Given the description of an element on the screen output the (x, y) to click on. 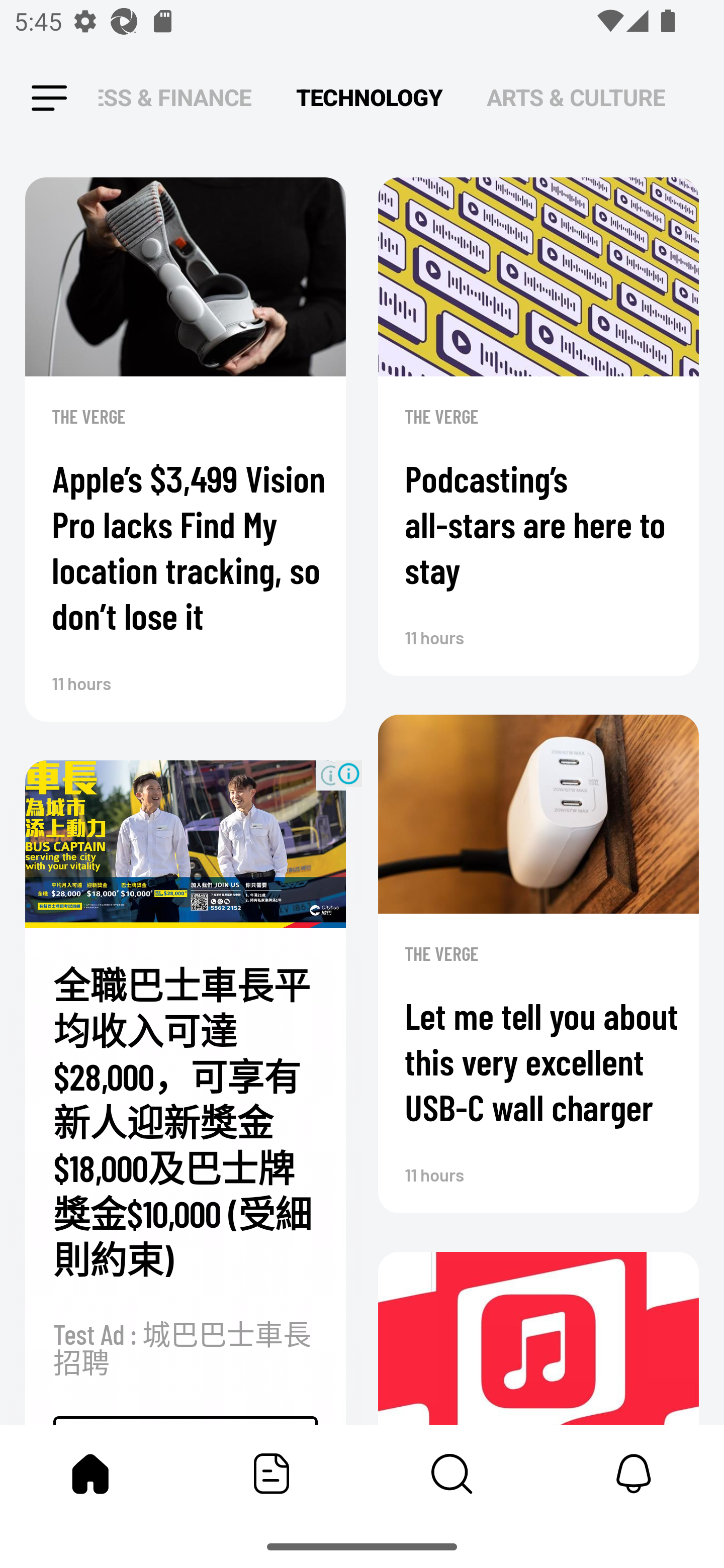
Leading Icon (49, 98)
BUSINESS & FINANCE (174, 97)
ARTS & CULTURE (575, 97)
Ad Choices Icon (348, 773)
Featured (271, 1473)
Content Store (452, 1473)
Notifications (633, 1473)
